Given the description of an element on the screen output the (x, y) to click on. 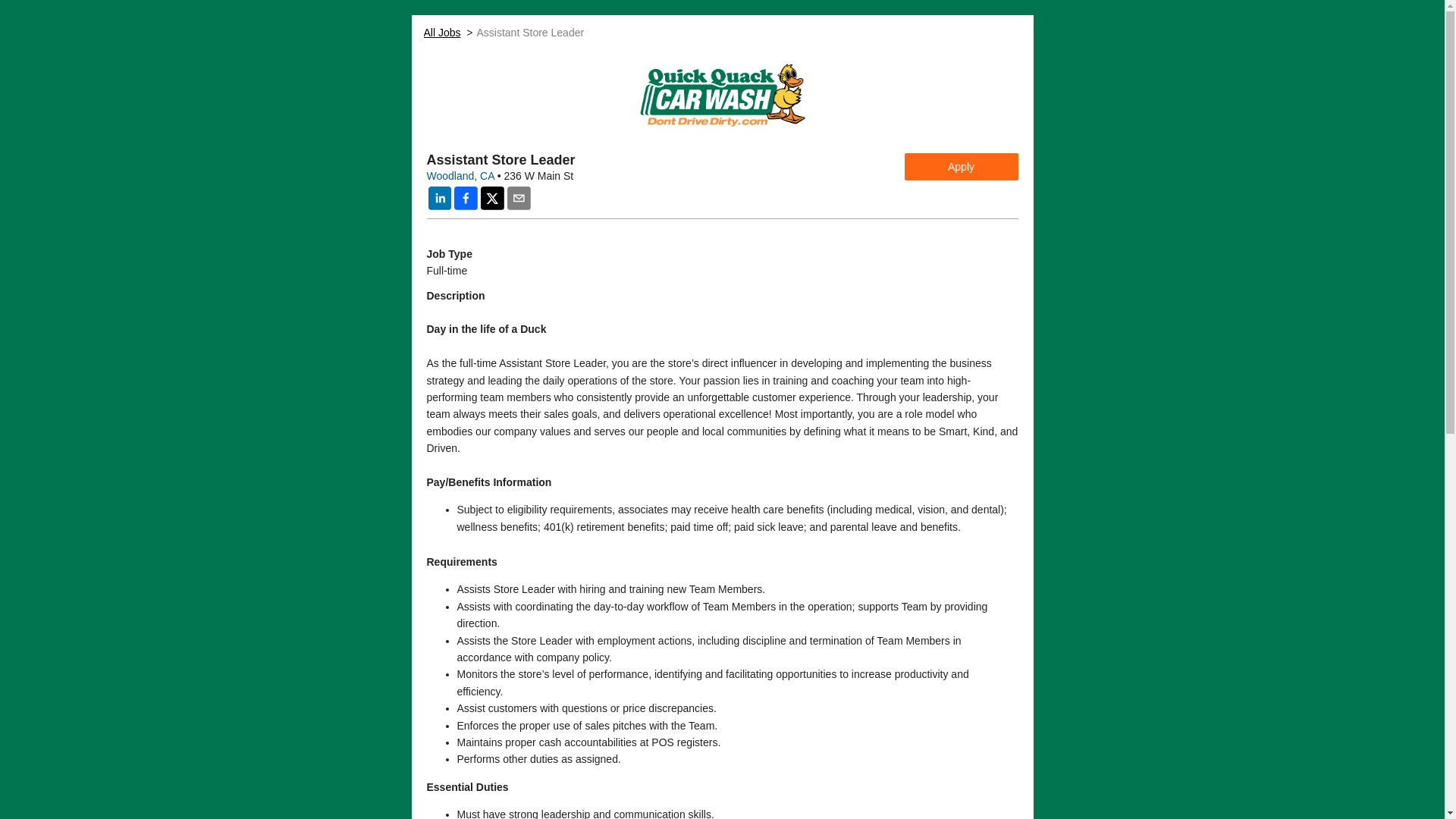
Apply (960, 166)
External Link Opens a New Window (459, 175)
All Jobs (441, 32)
All Jobs (441, 32)
Woodland, CA (459, 175)
